Given the description of an element on the screen output the (x, y) to click on. 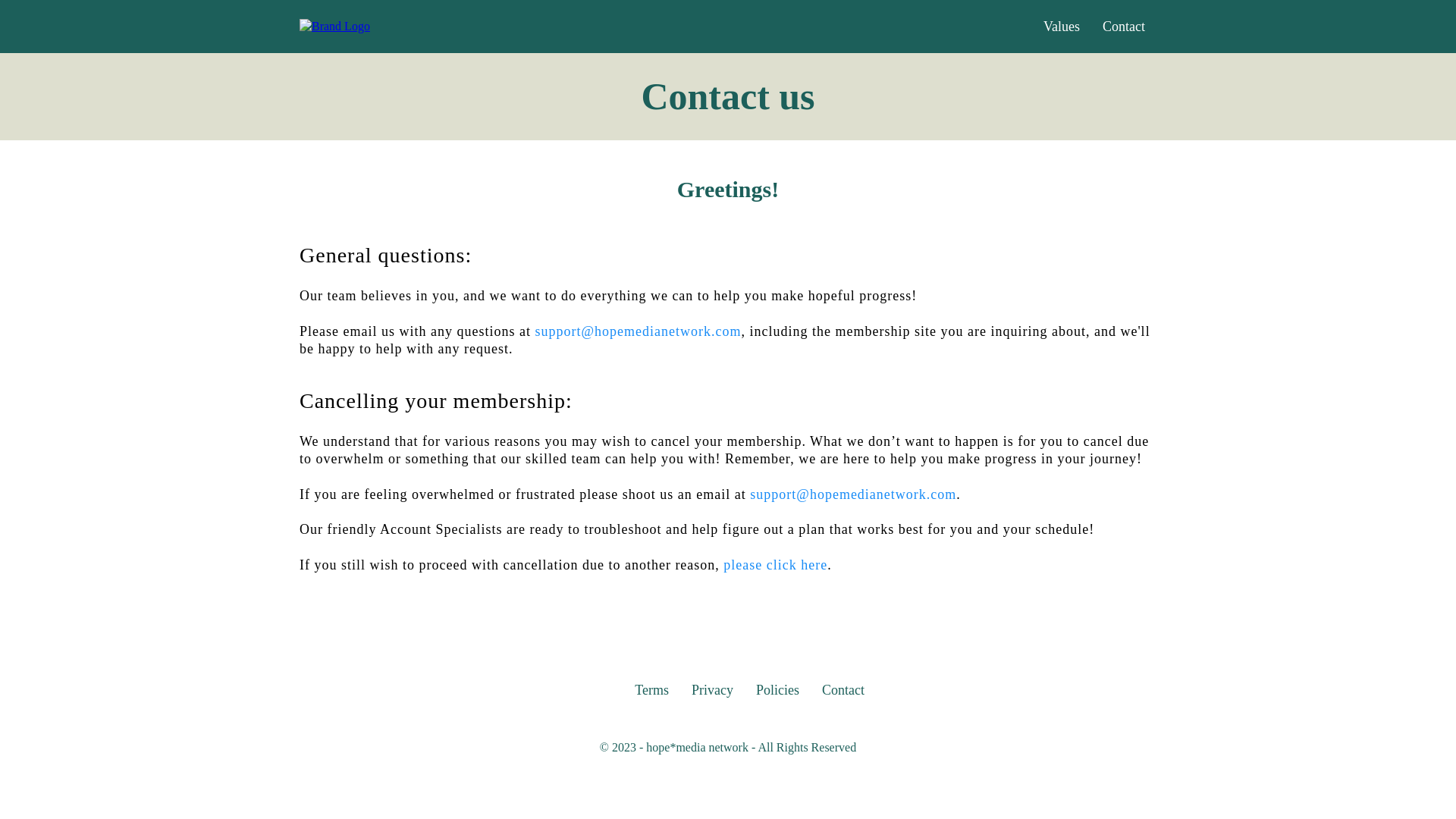
Privacy (711, 689)
please click here (775, 564)
Terms (651, 689)
Contact (843, 689)
Values (1061, 26)
Policies (777, 689)
Contact (1123, 26)
